Given the description of an element on the screen output the (x, y) to click on. 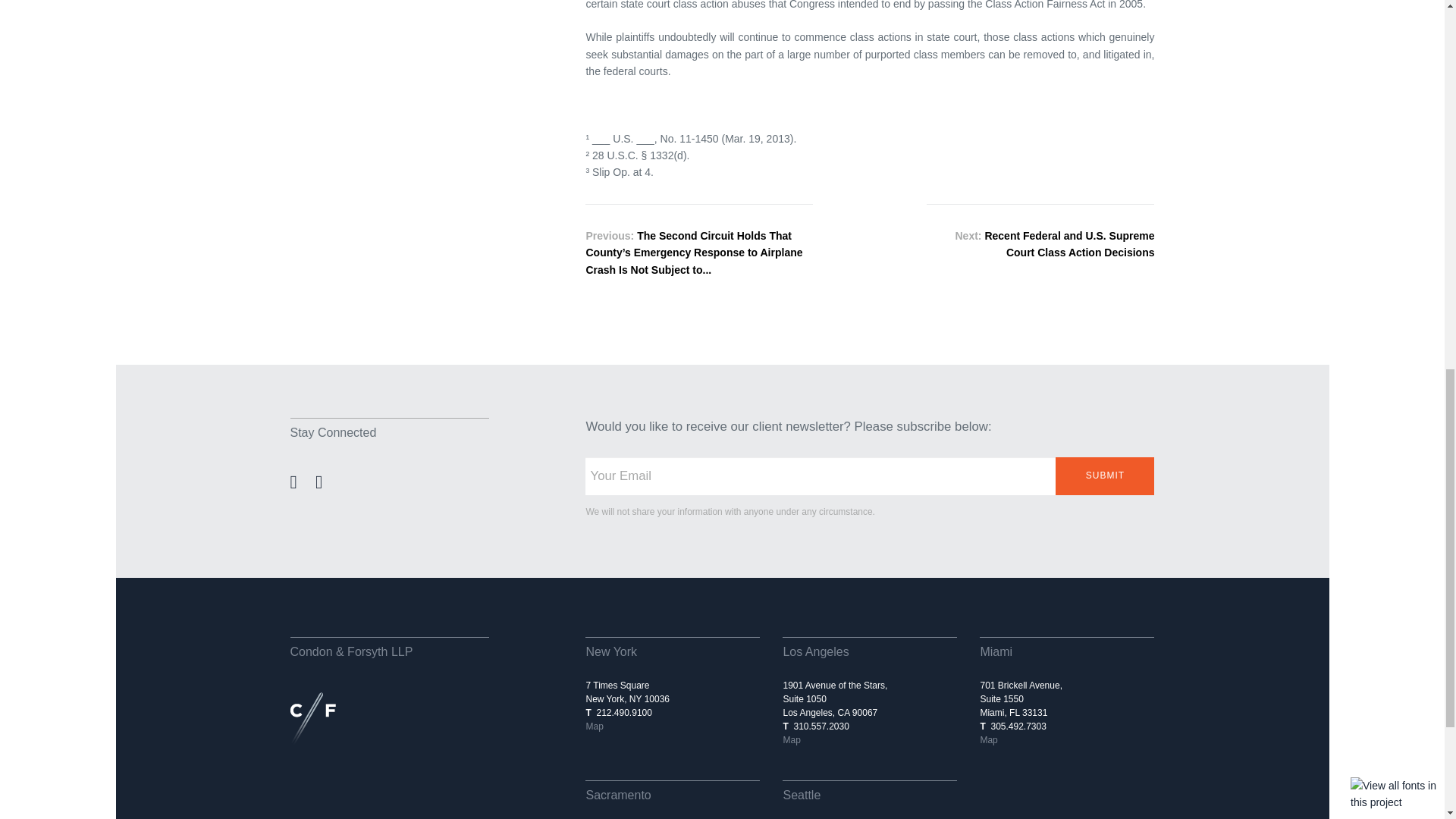
Condon Law Miami map (988, 739)
Submit (1104, 476)
Condon Law Los Angeles map (791, 739)
Map (791, 739)
Condon Law New York map (593, 726)
Recent Federal and U.S. Supreme Court Class Action Decisions (1069, 244)
Map (988, 739)
Submit (1104, 476)
Map (593, 726)
Recent Federal and U.S. Supreme Court Class Action Decisions (1069, 244)
